Given the description of an element on the screen output the (x, y) to click on. 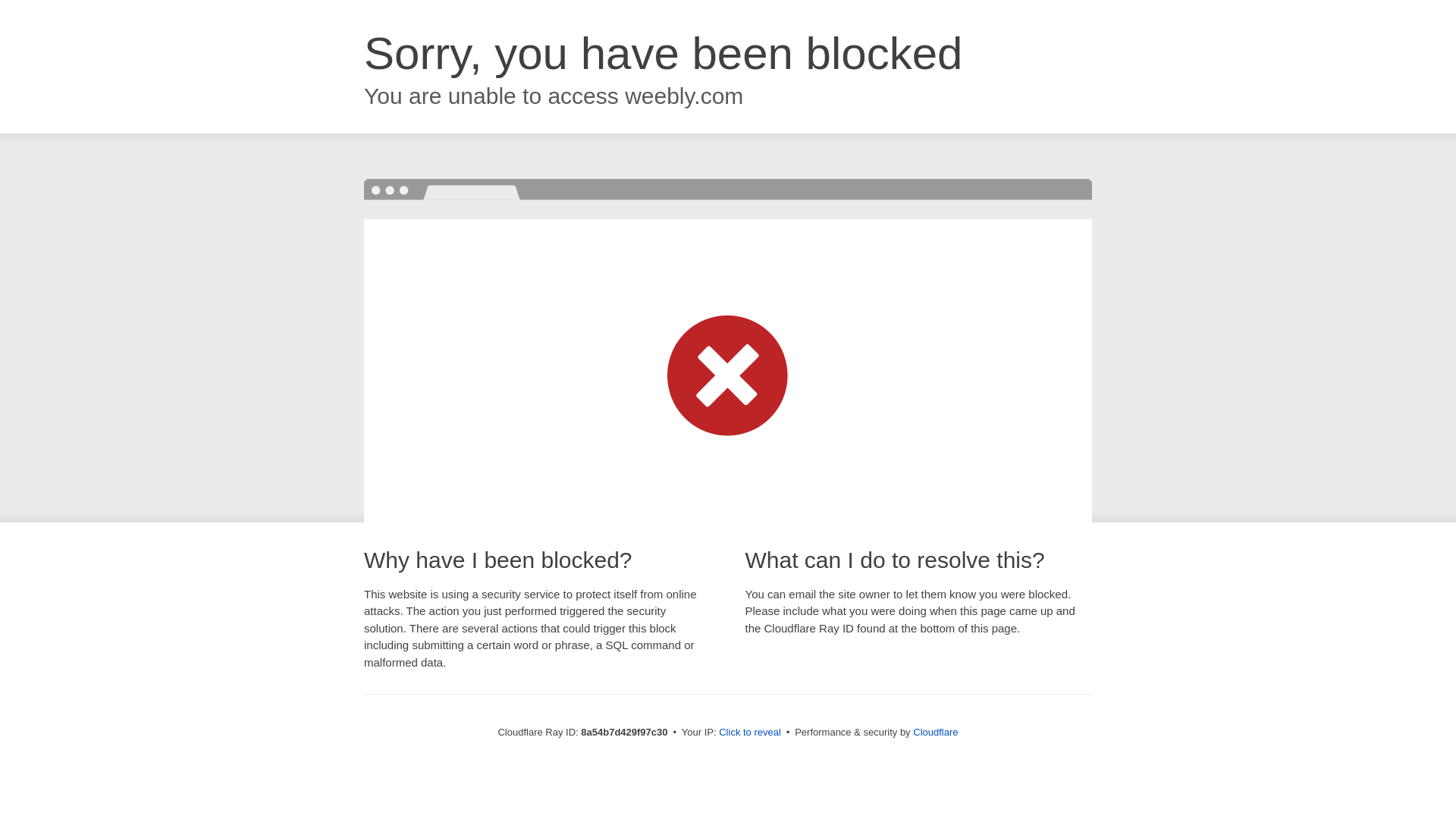
Cloudflare (935, 731)
Click to reveal (749, 732)
